Given the description of an element on the screen output the (x, y) to click on. 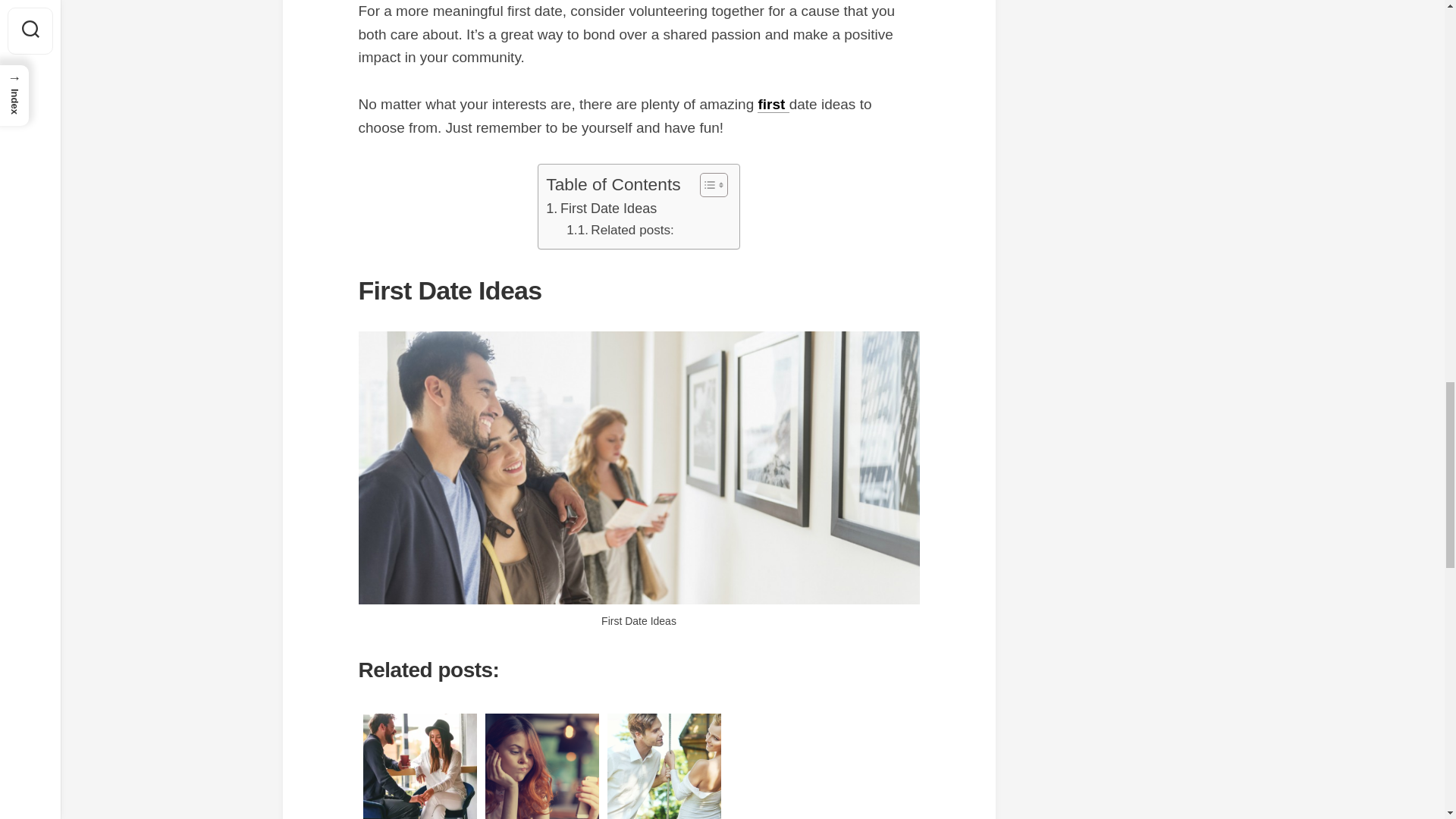
Related posts: (619, 230)
10 First Date Tips For Women (663, 764)
First Date Ideas (601, 209)
first (773, 104)
Related posts: (619, 230)
First Date Ideas (601, 209)
